Given the description of an element on the screen output the (x, y) to click on. 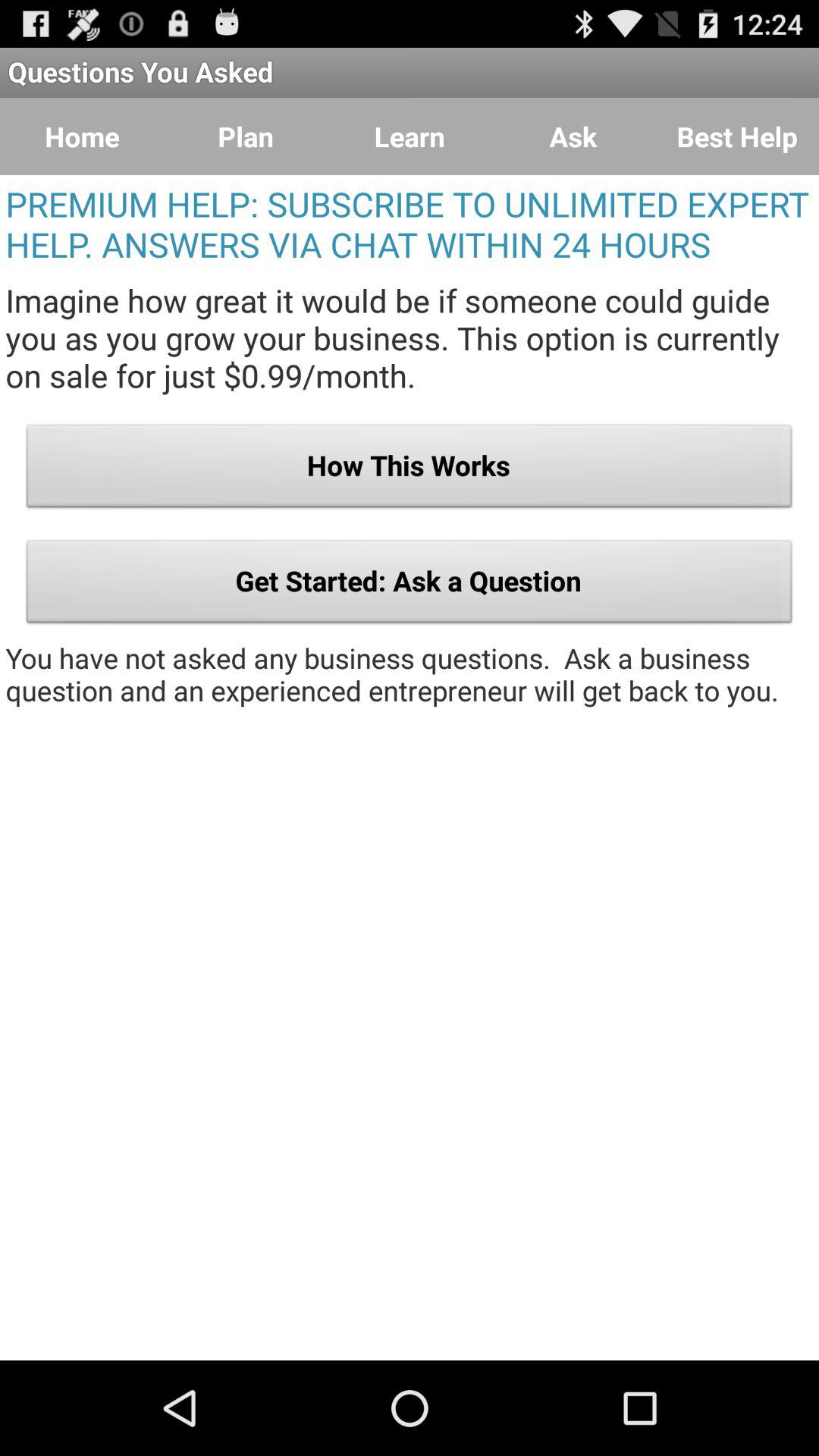
flip until the plan icon (245, 136)
